Given the description of an element on the screen output the (x, y) to click on. 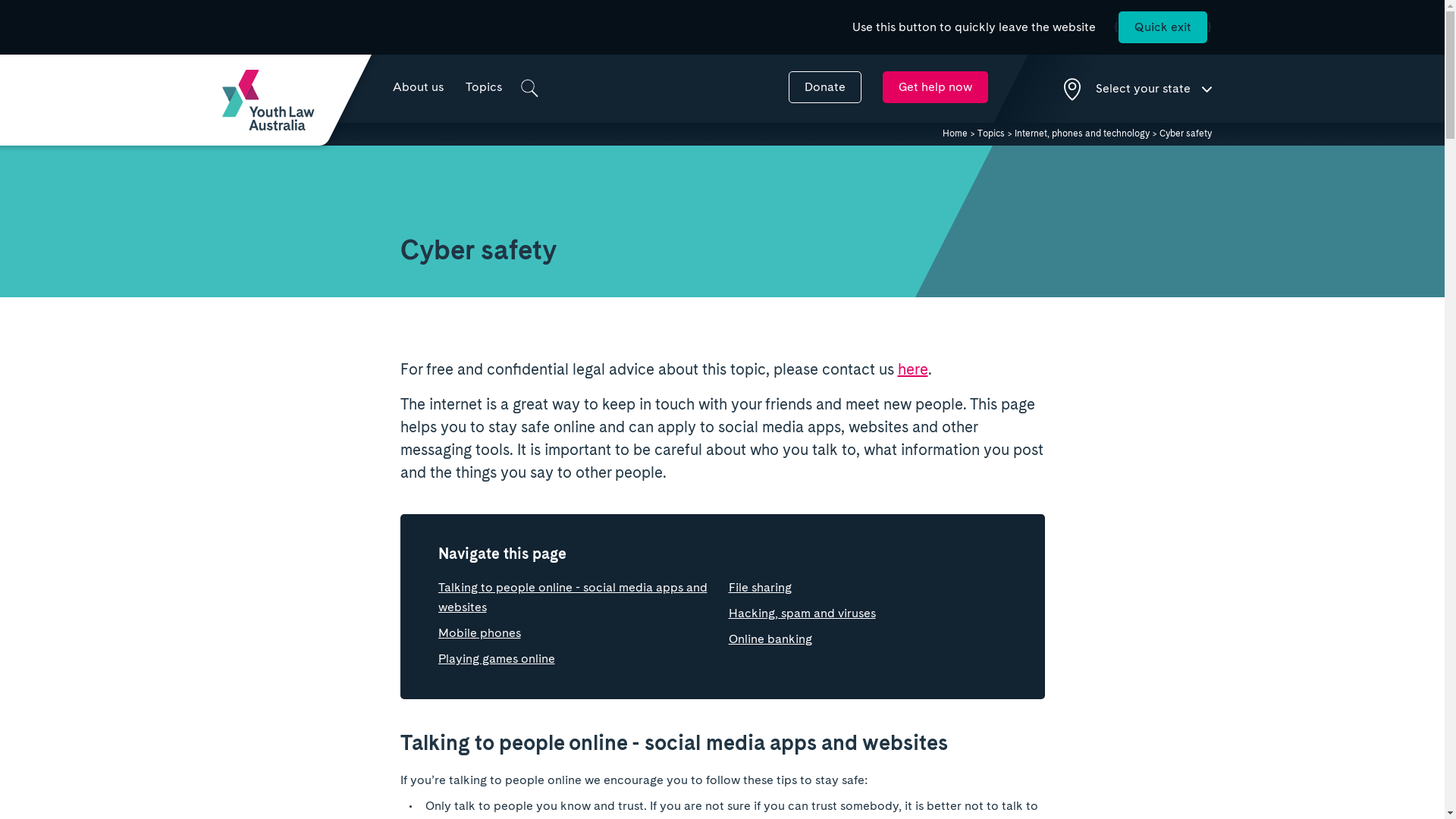
Get help now Element type: text (935, 87)
Internet, phones and technology Element type: text (1081, 133)
Online banking Element type: text (769, 638)
Topics Element type: text (483, 86)
here Element type: text (912, 369)
Topics Element type: text (990, 133)
YLA Homepage Element type: hover (267, 99)
Talking to people online - social media apps and websites Element type: text (572, 597)
Quick exit Element type: text (1161, 27)
Donate Element type: text (824, 87)
File sharing Element type: text (759, 587)
Home Element type: text (953, 133)
About us Element type: text (417, 86)
Select your state Element type: text (1137, 88)
Hacking, spam and viruses Element type: text (801, 612)
Playing games online Element type: text (496, 658)
Mobile phones Element type: text (479, 632)
